Given the description of an element on the screen output the (x, y) to click on. 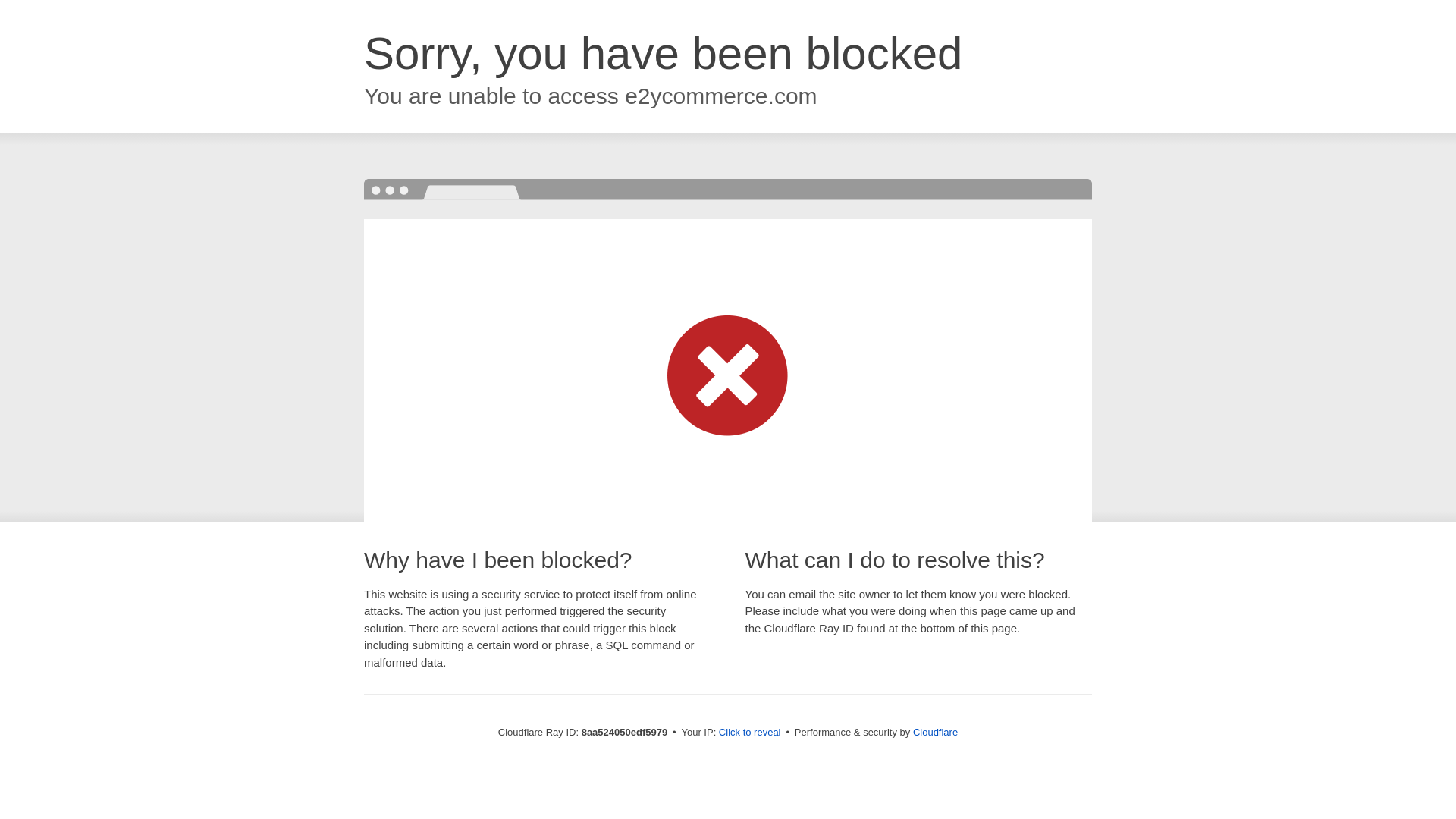
Click to reveal (749, 732)
Cloudflare (935, 731)
